Given the description of an element on the screen output the (x, y) to click on. 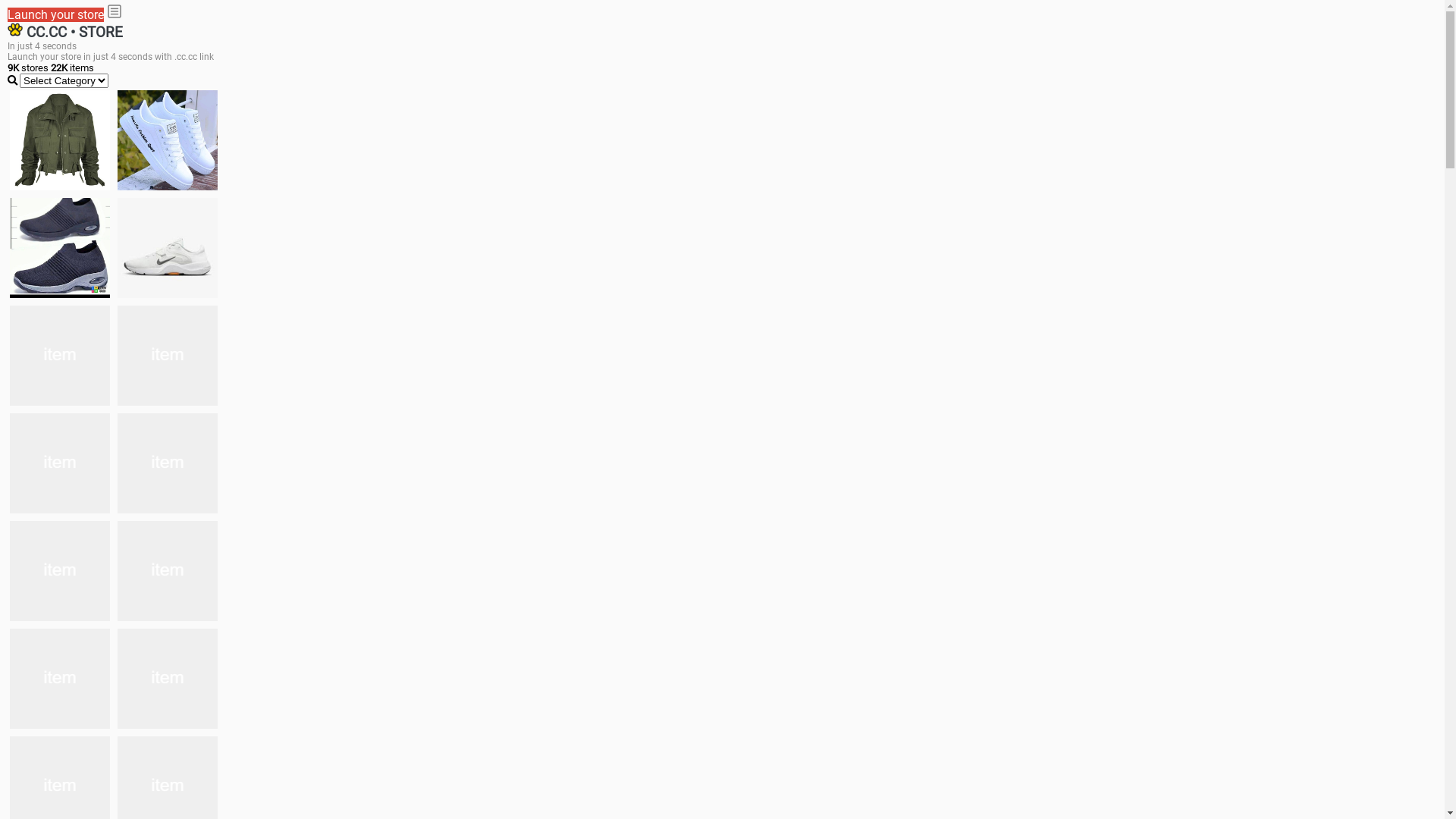
Things we need Element type: hover (59, 355)
white shoes Element type: hover (167, 140)
Launch your store Element type: text (55, 14)
Dress/square nect top Element type: hover (59, 463)
Short pant Element type: hover (167, 678)
shoes for boys Element type: hover (59, 247)
Shoes Element type: hover (167, 463)
Zapatillas pumas Element type: hover (167, 570)
jacket Element type: hover (59, 140)
Zapatillas Element type: hover (59, 678)
Shoes for boys Element type: hover (167, 247)
Ukay cloth Element type: hover (167, 355)
